Given the description of an element on the screen output the (x, y) to click on. 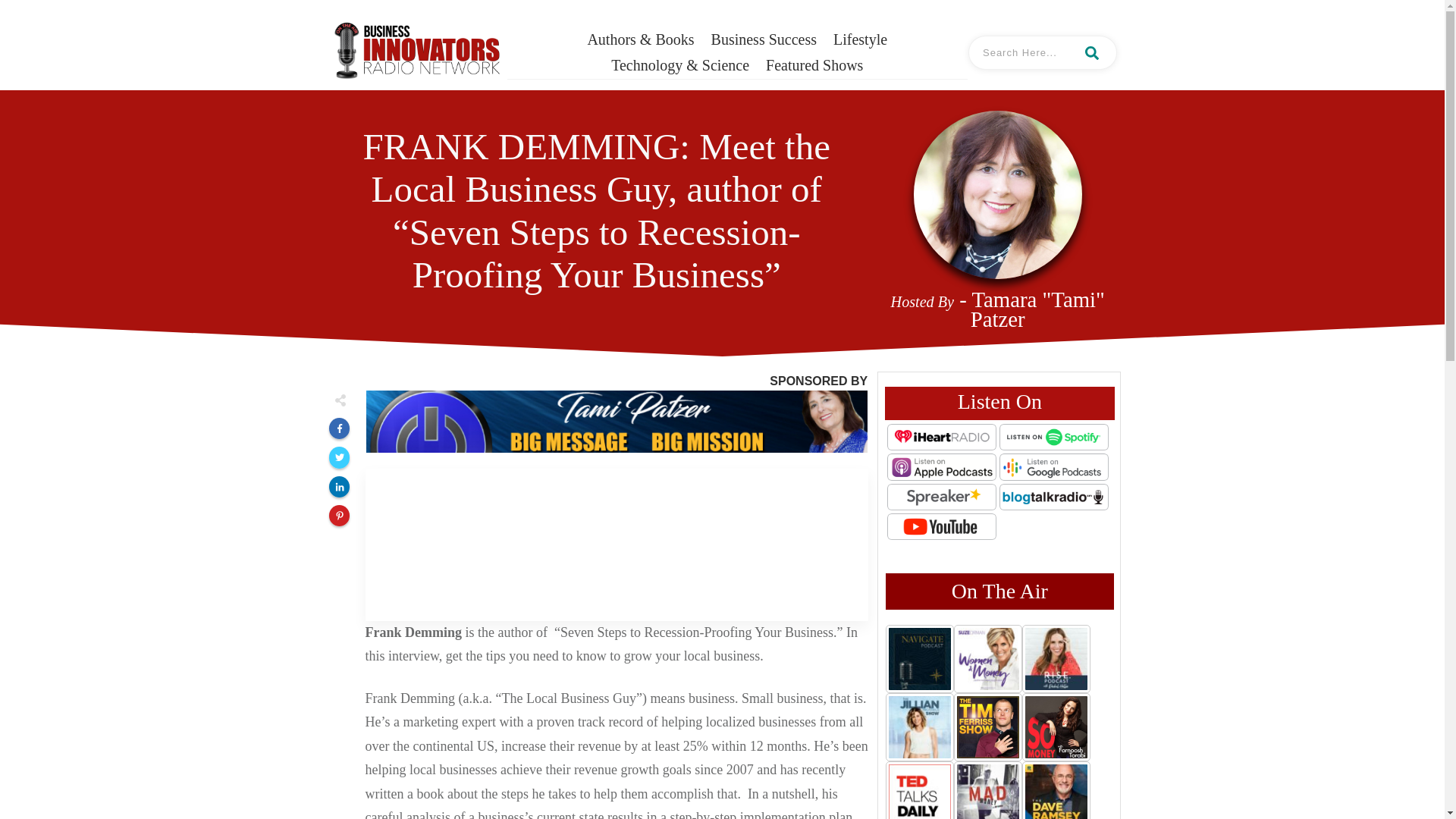
NAVIGATE (919, 658)
The Rachel Hollis Podcast (1056, 658)
Lifestyle (859, 39)
The Tim Ferris Show (987, 726)
Business Success (763, 39)
The Jillian Michaels Show (919, 726)
So Money with Farnoosh Torabi (1056, 726)
The Dave Ramsey Show (1056, 790)
TED Talks Daily (919, 790)
Featured Shows (814, 65)
